Given the description of an element on the screen output the (x, y) to click on. 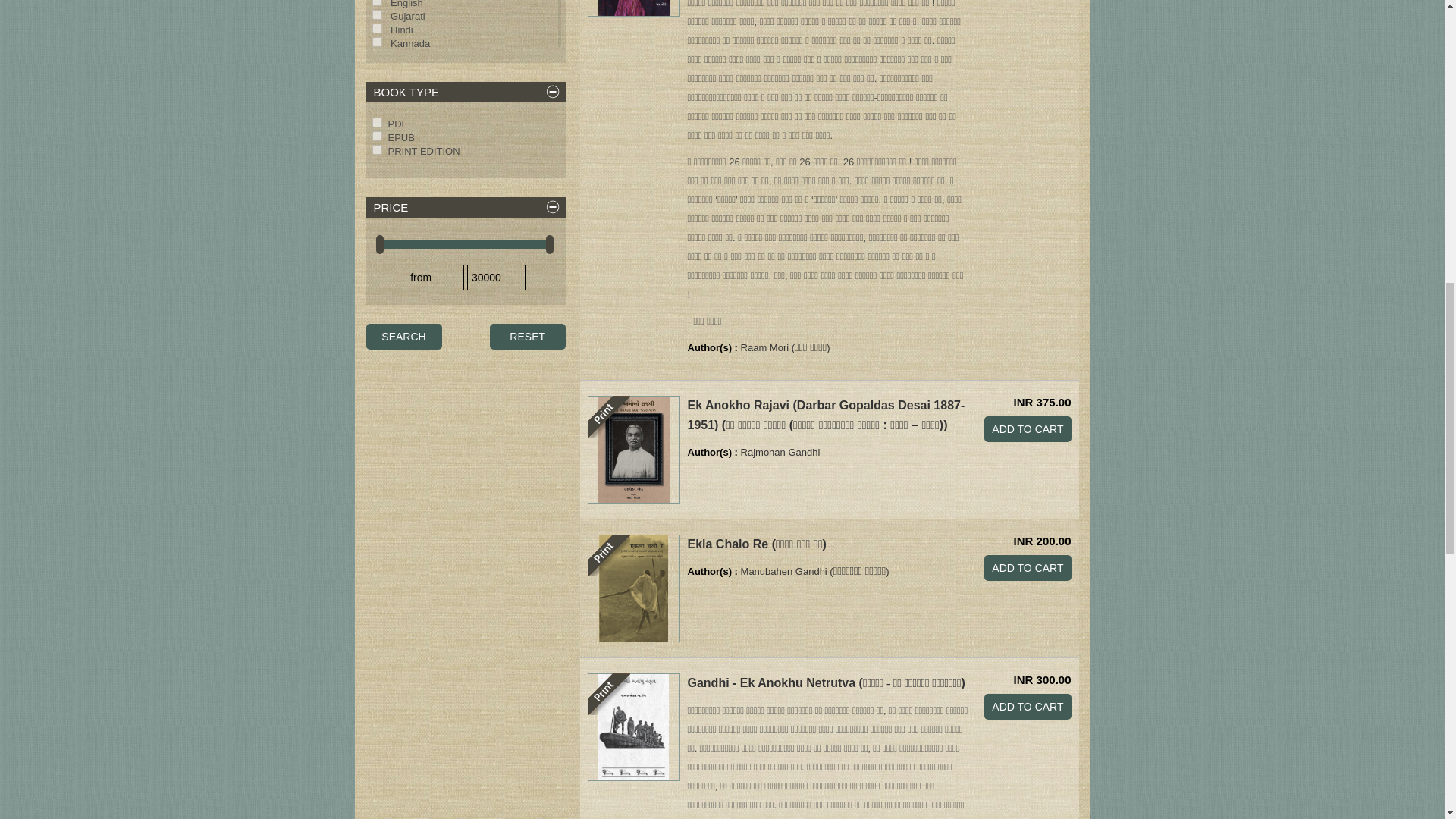
Rajmohan Gandhi (464, 137)
